Given the description of an element on the screen output the (x, y) to click on. 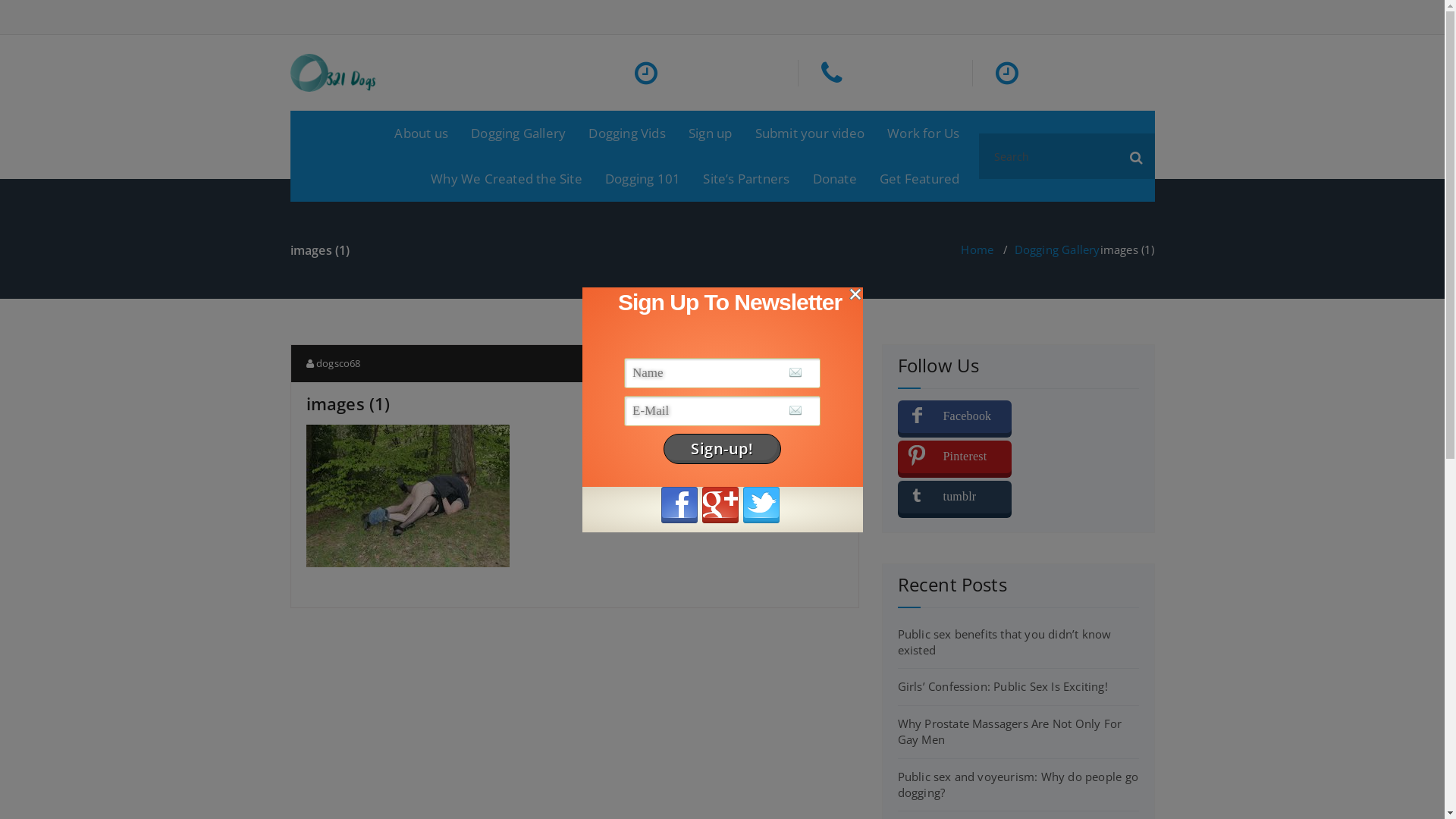
Pinterest Element type: text (954, 456)
Work for Us Element type: text (922, 133)
Get Featured Element type: text (919, 178)
Facebook Element type: text (954, 416)
Public sex and voyeurism: Why do people go dogging? Element type: text (1017, 784)
Sign up Element type: text (709, 133)
About us Element type: text (420, 133)
Dogging 101 Element type: text (642, 178)
Dogging Gallery Element type: text (1057, 249)
tumblr Element type: text (954, 496)
Dogging Vids Element type: text (626, 133)
Submit your video Element type: text (809, 133)
Why We Created the Site Element type: text (506, 178)
Home Element type: text (976, 249)
Dogging Gallery Element type: text (518, 133)
Donate Element type: text (834, 178)
Why Prostate Massagers Are Not Only For Gay Men Element type: text (1009, 730)
Sign-up! Element type: text (722, 448)
dogsco68 Element type: text (333, 363)
